Given the description of an element on the screen output the (x, y) to click on. 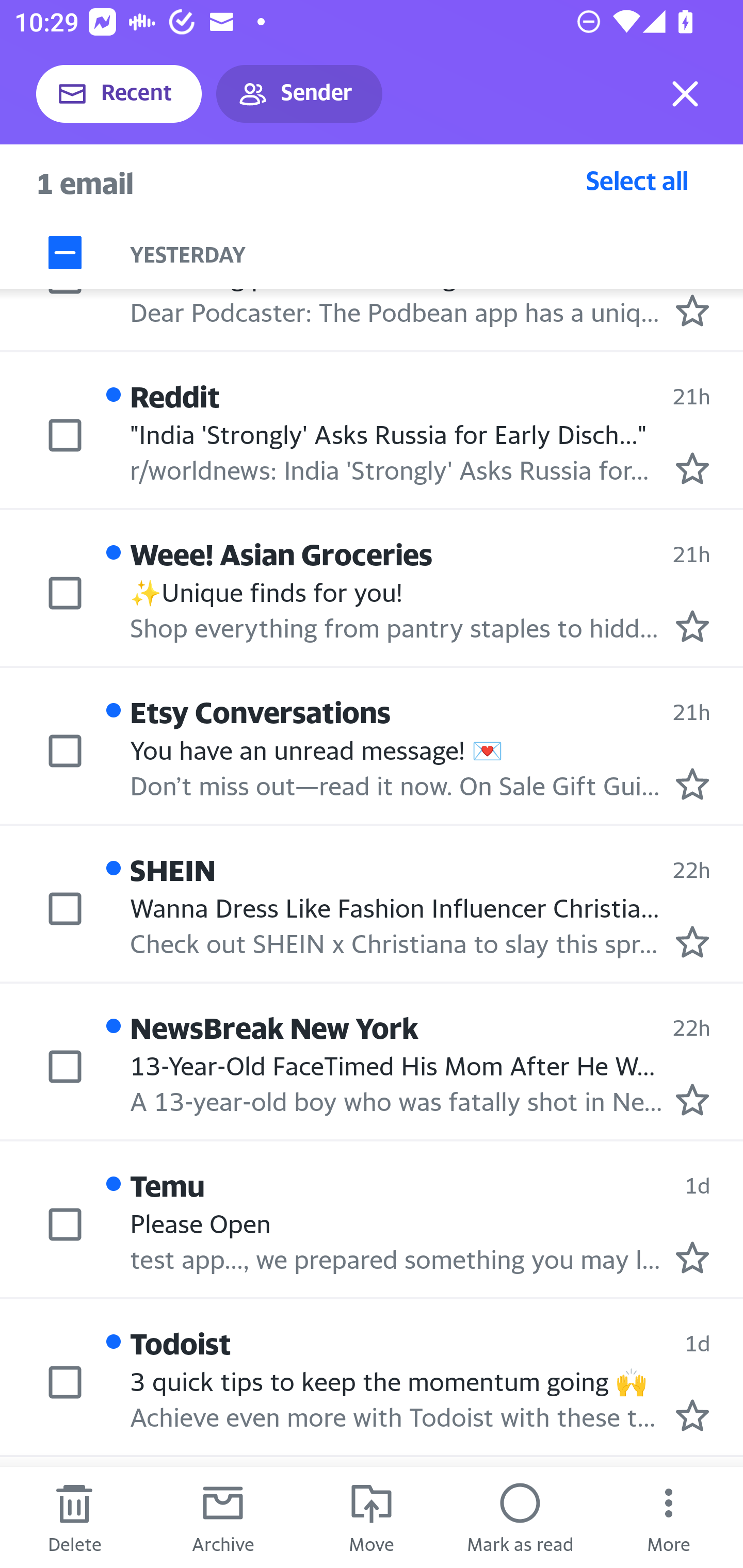
Sender (299, 93)
Exit selection mode (684, 93)
Select all (637, 180)
Mark as starred. (692, 311)
Mark as starred. (692, 468)
Mark as starred. (692, 626)
Mark as starred. (692, 783)
Mark as starred. (692, 941)
Mark as starred. (692, 1099)
Mark as starred. (692, 1256)
Mark as starred. (692, 1415)
Delete (74, 1517)
Archive (222, 1517)
Move (371, 1517)
Mark as read (519, 1517)
More (668, 1517)
